Given the description of an element on the screen output the (x, y) to click on. 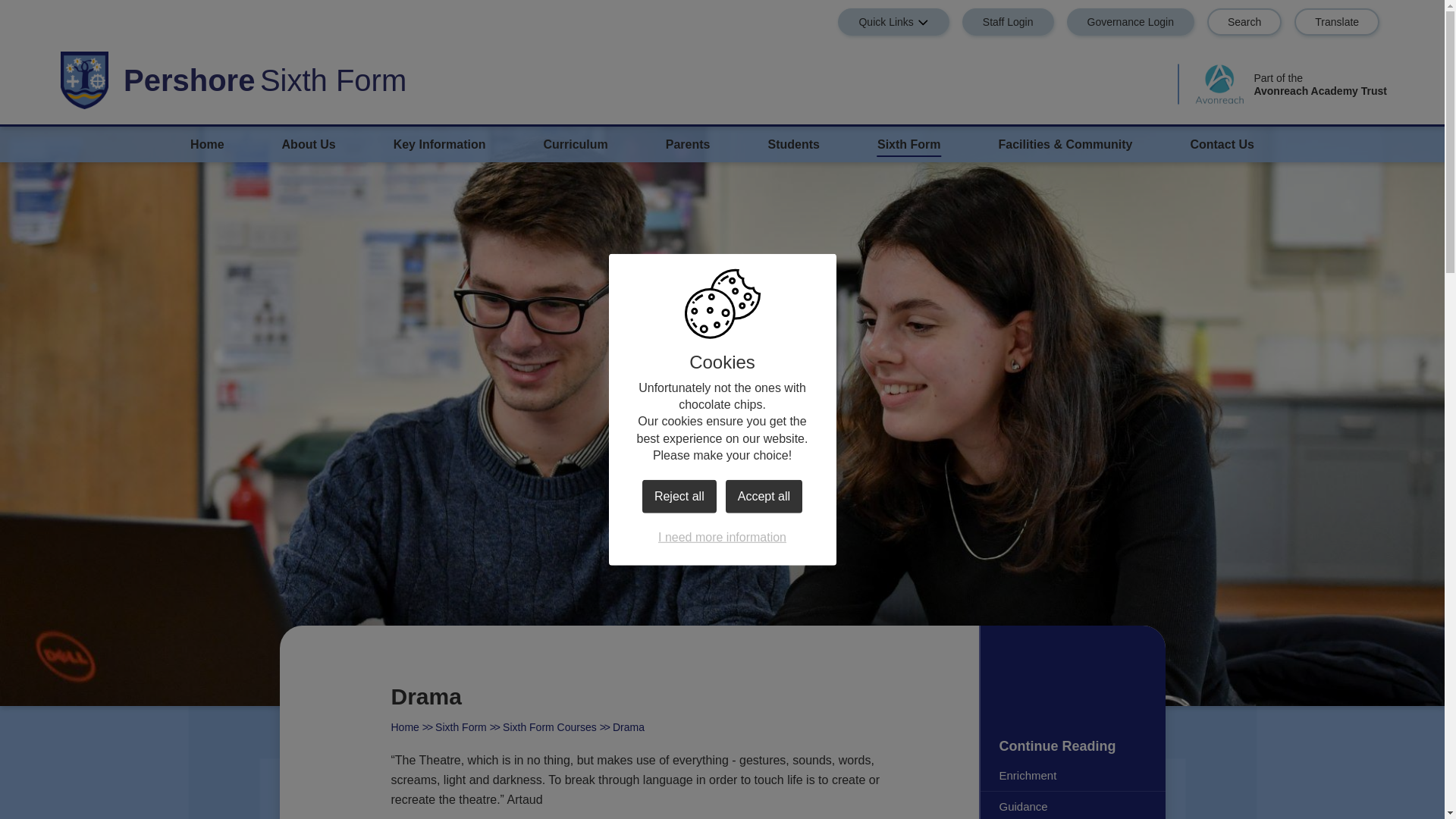
Key Information (439, 144)
Staff Login (1008, 22)
About Us (308, 144)
Avonreach Academy Trust (1219, 84)
Governance Login (1129, 22)
Home (207, 144)
